Given the description of an element on the screen output the (x, y) to click on. 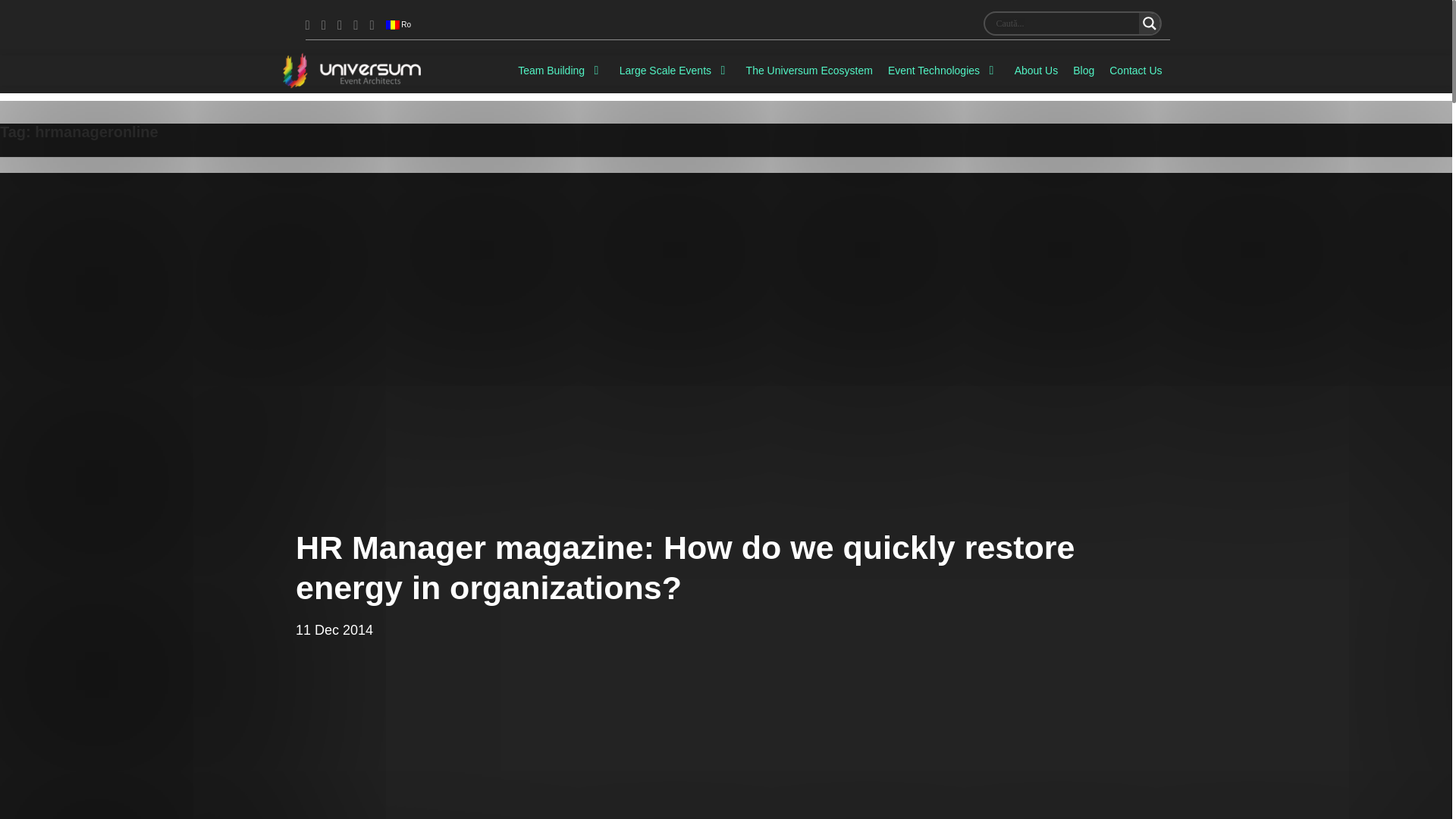
Ro (398, 24)
Team Building (561, 69)
